Given the description of an element on the screen output the (x, y) to click on. 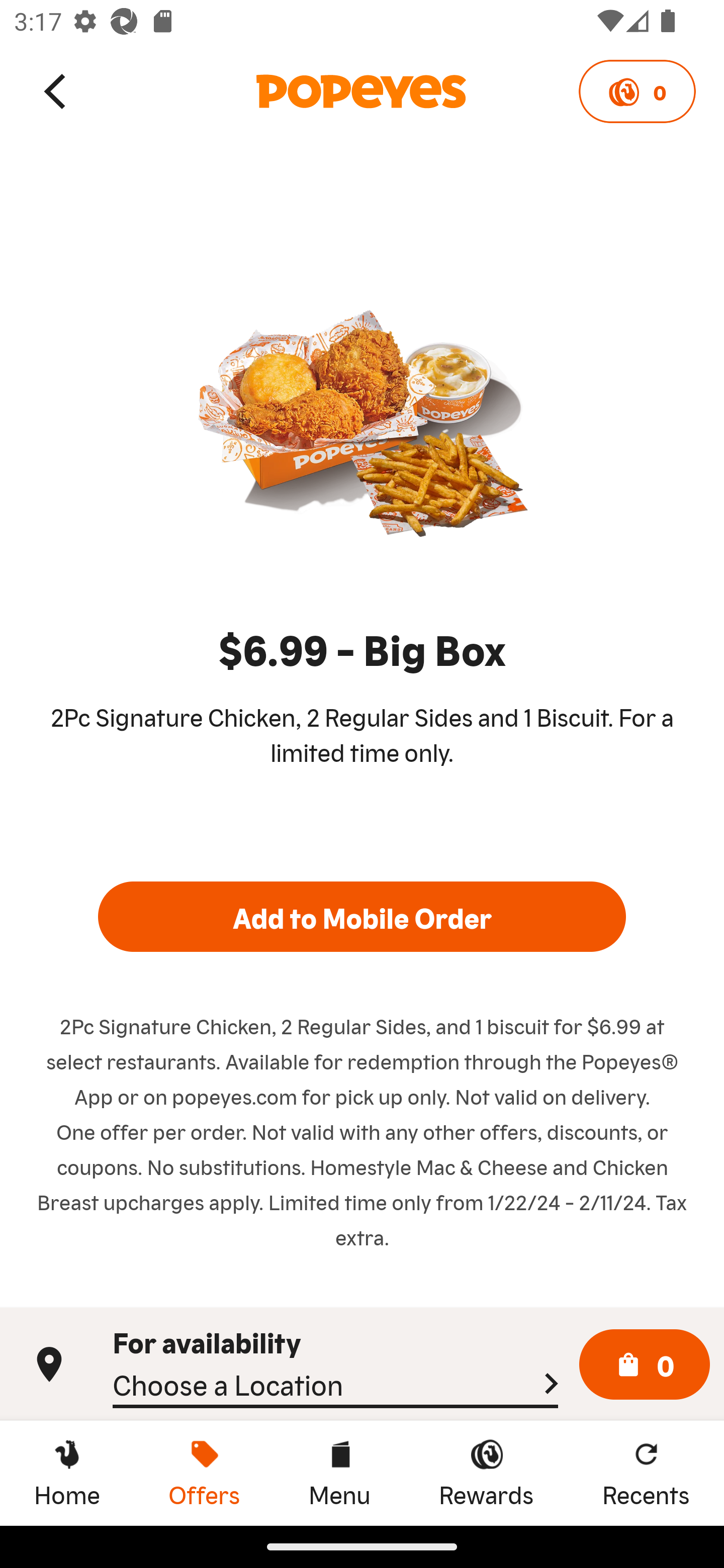
Back (56, 90)
0 Points 0 (636, 91)
Add to Mobile Order (361, 916)
0 Cart total  0 (644, 1364)
Home Home Home (66, 1472)
Offers, current page Offers Offers, current page (203, 1472)
Menu Menu Menu (339, 1472)
Rewards Rewards Rewards (486, 1472)
Recents Recents Recents (646, 1472)
